Given the description of an element on the screen output the (x, y) to click on. 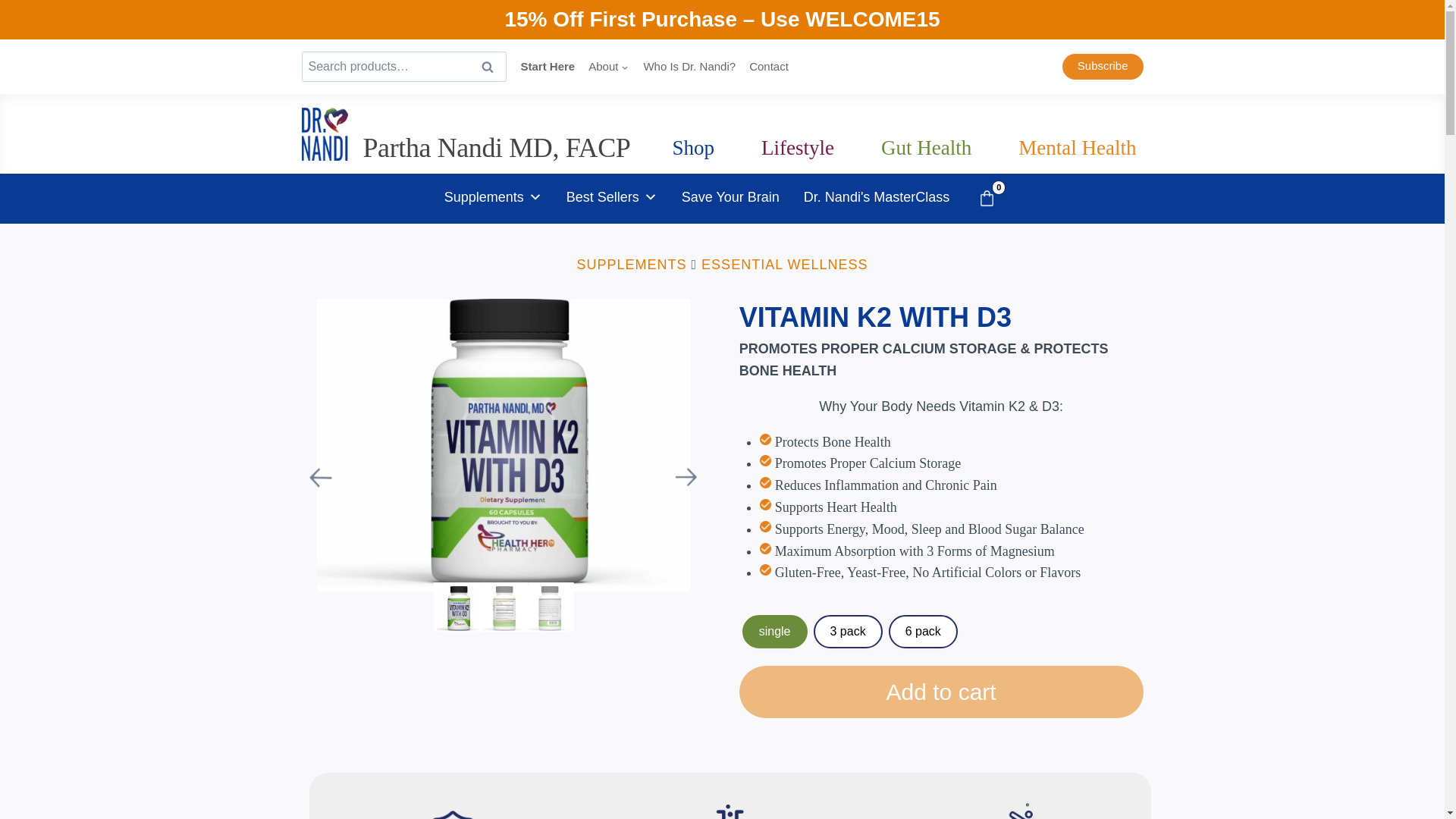
6 pack (923, 631)
About (608, 66)
Who Is Dr. Nandi? (689, 66)
Shop (693, 148)
Search (487, 66)
single (775, 631)
3 pack (847, 631)
Mental Health (1076, 148)
Vitamin-K2-with-D3-Mockup-1 (503, 444)
Contact (768, 66)
